Given the description of an element on the screen output the (x, y) to click on. 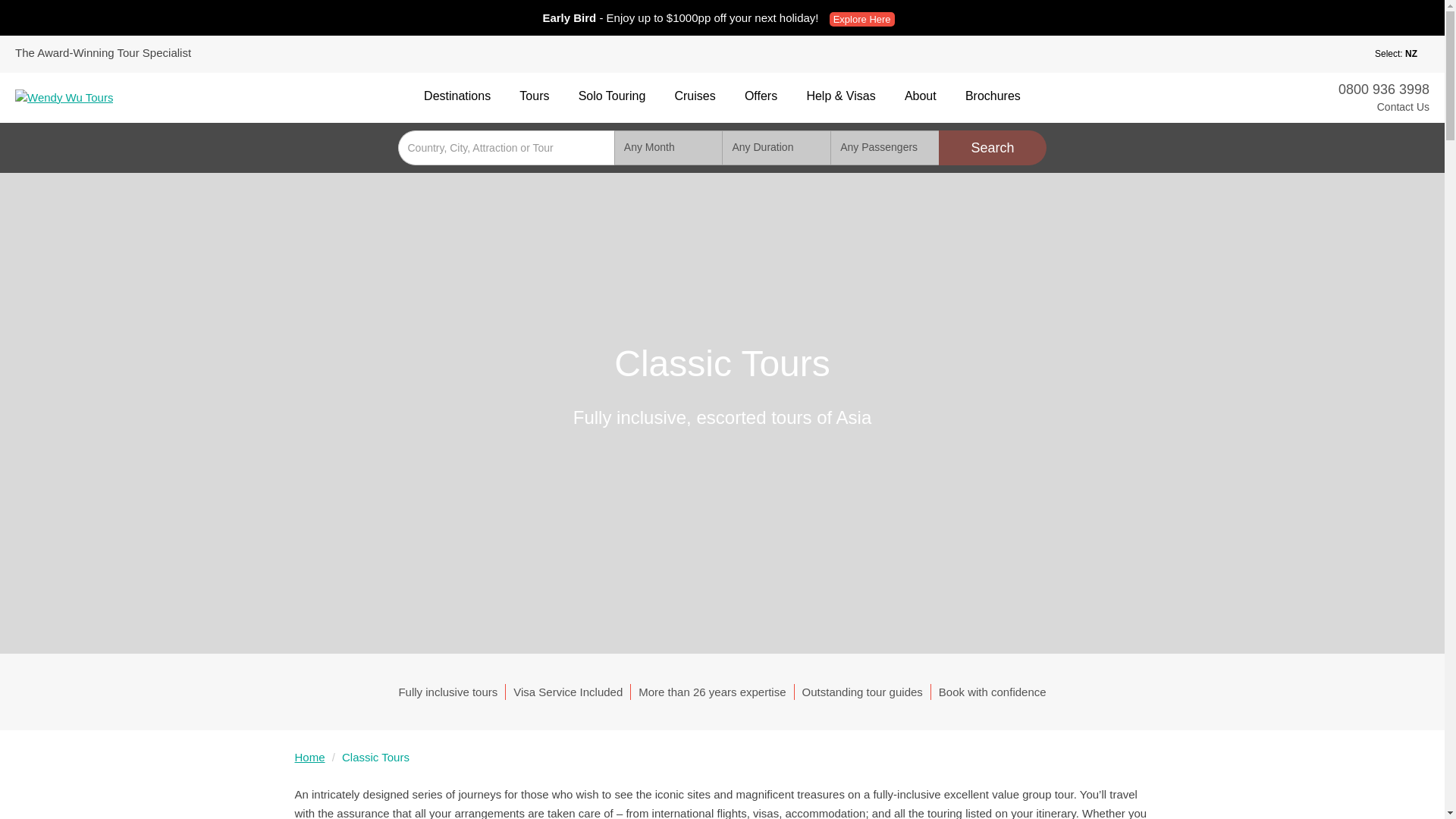
0800 936 3998 (1383, 89)
Destinations (456, 96)
Explore Here (862, 19)
Select: NZ (1385, 54)
Contact Us (1383, 107)
